Given the description of an element on the screen output the (x, y) to click on. 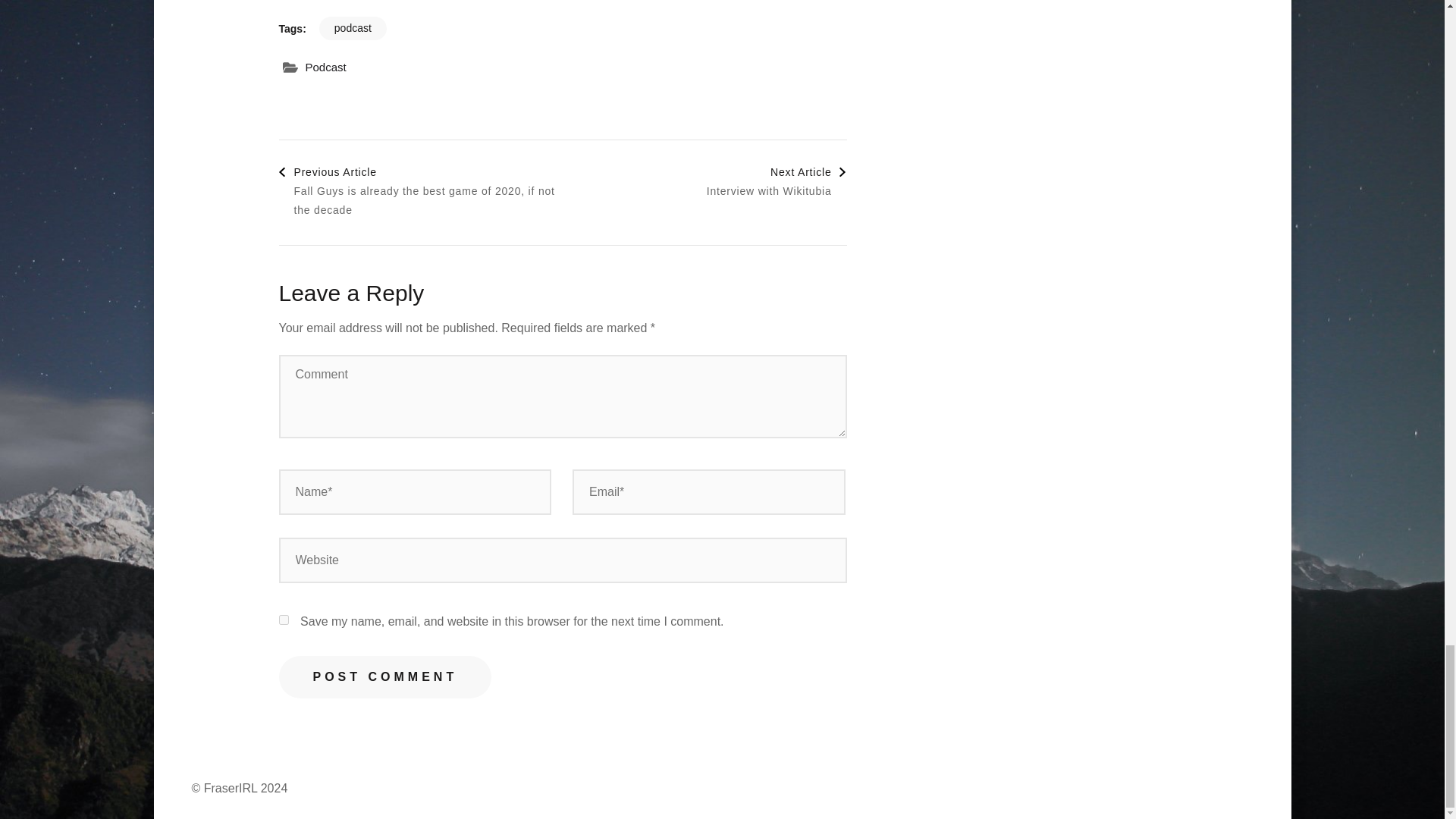
podcast (776, 181)
Podcast (352, 28)
Post Comment (325, 66)
yes (385, 677)
Post Comment (283, 619)
